Given the description of an element on the screen output the (x, y) to click on. 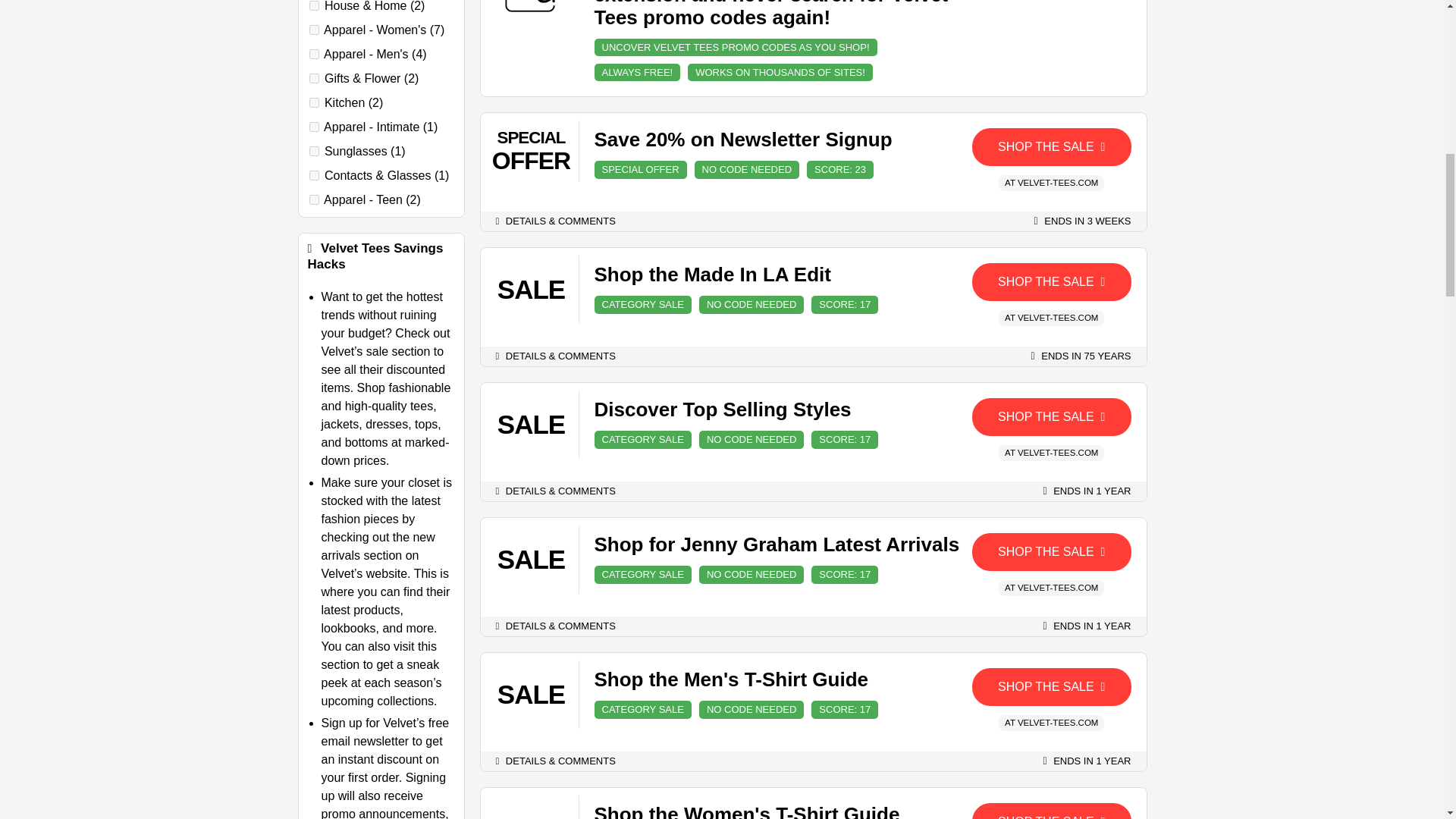
gifts-flowers (313, 78)
contacts-glasses (313, 175)
intimate-apparel (313, 126)
sunglasses (313, 151)
apparel-men (313, 53)
apparel-women (313, 30)
teens (313, 199)
kitchen (313, 102)
house-home (313, 5)
